Given the description of an element on the screen output the (x, y) to click on. 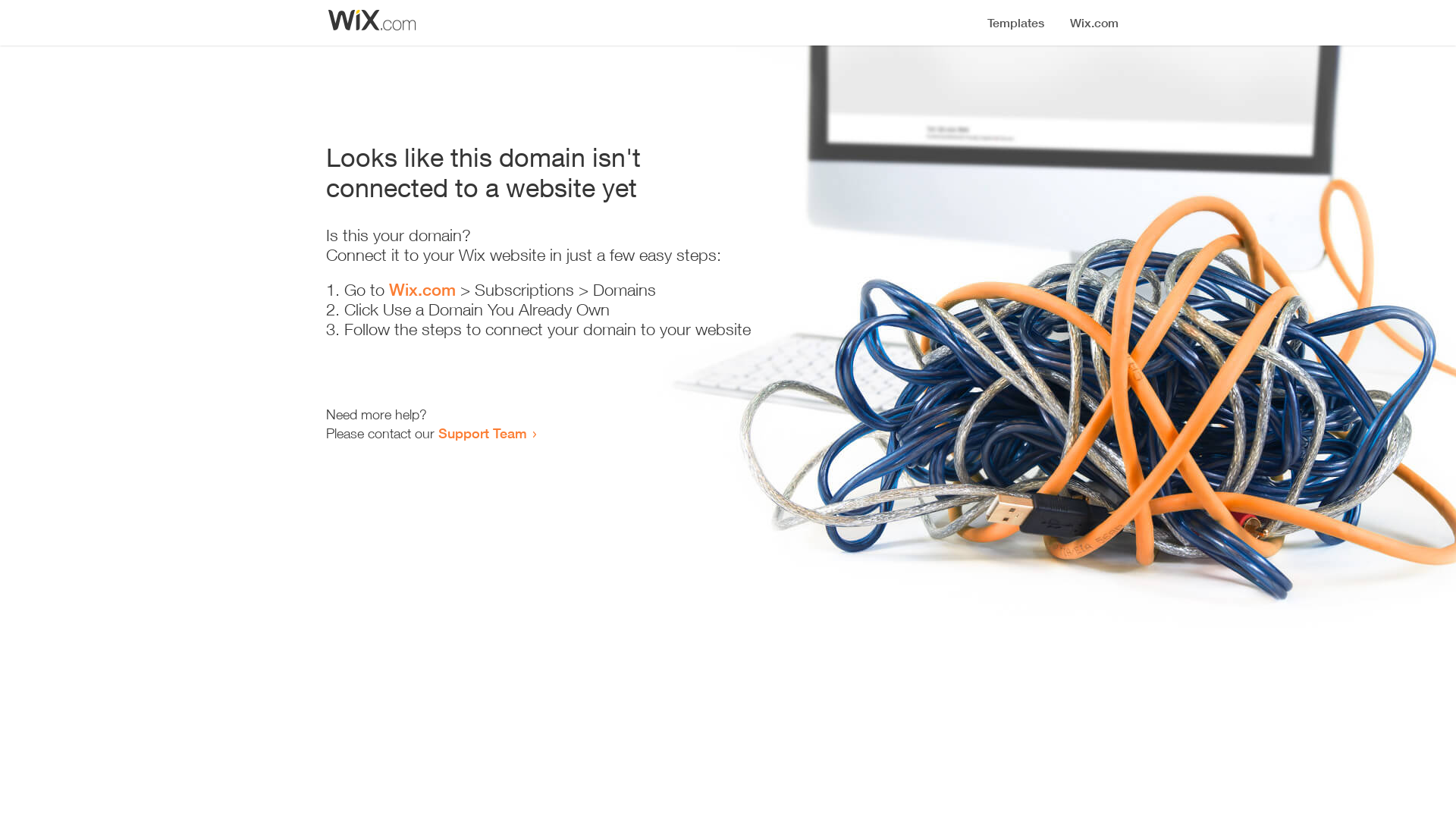
Support Team Element type: text (482, 432)
Wix.com Element type: text (422, 289)
